Given the description of an element on the screen output the (x, y) to click on. 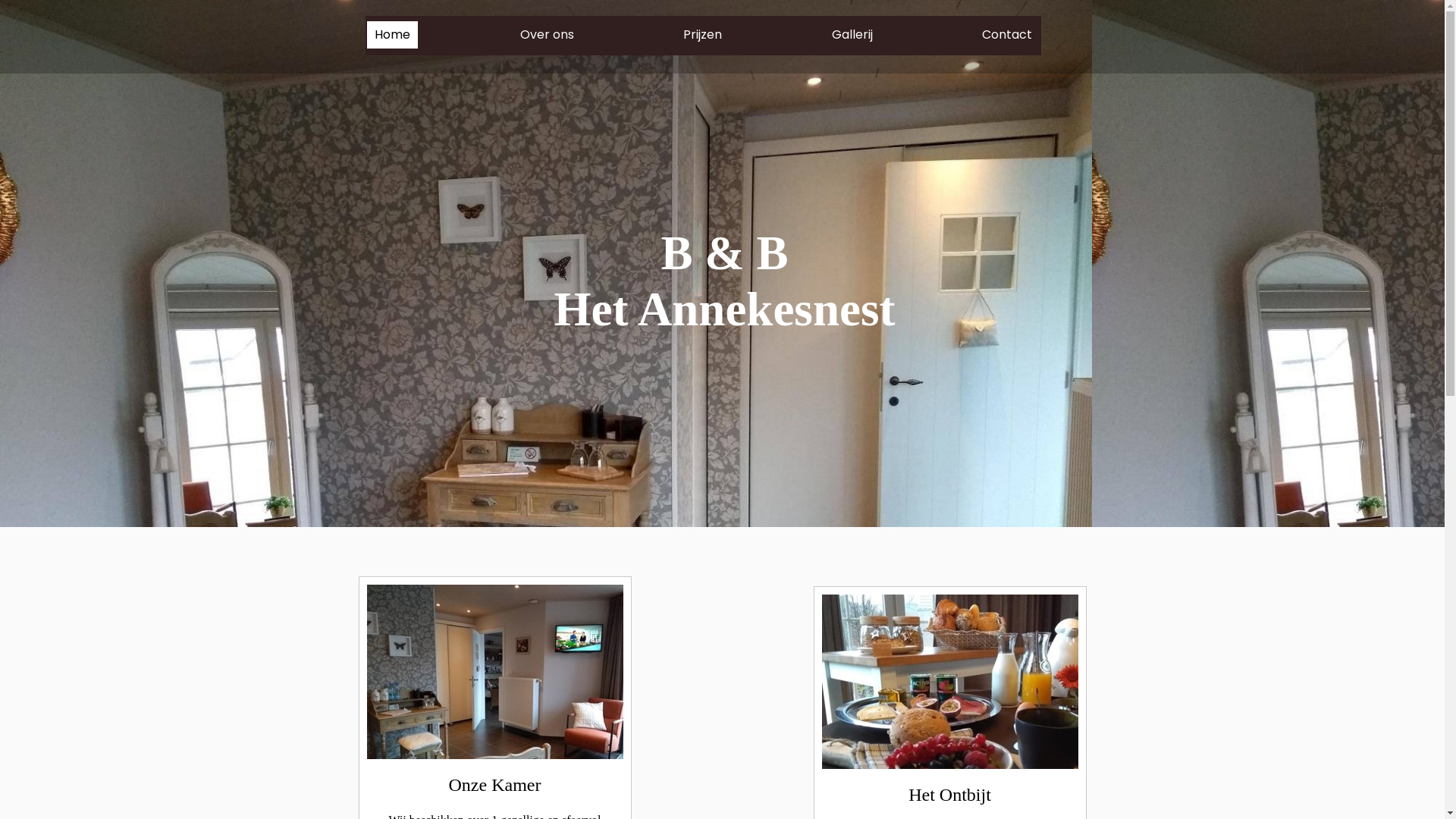
Prijzen Element type: text (702, 34)
Over ons Element type: text (546, 34)
Home Element type: text (392, 34)
Gallerij Element type: text (851, 34)
Contact Element type: text (1006, 34)
